Given the description of an element on the screen output the (x, y) to click on. 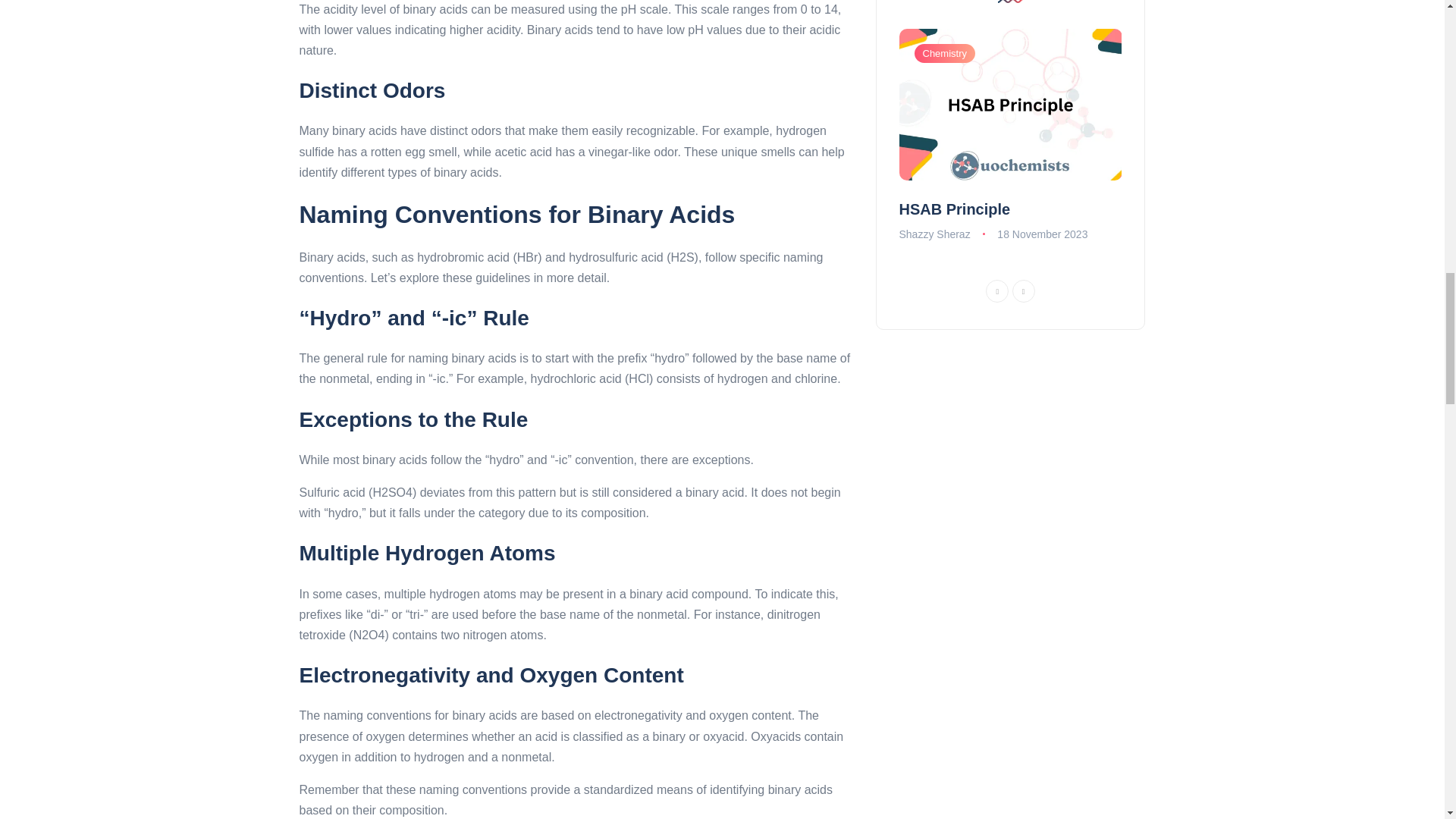
Posts by Shazzy Sheraz (935, 234)
